Given the description of an element on the screen output the (x, y) to click on. 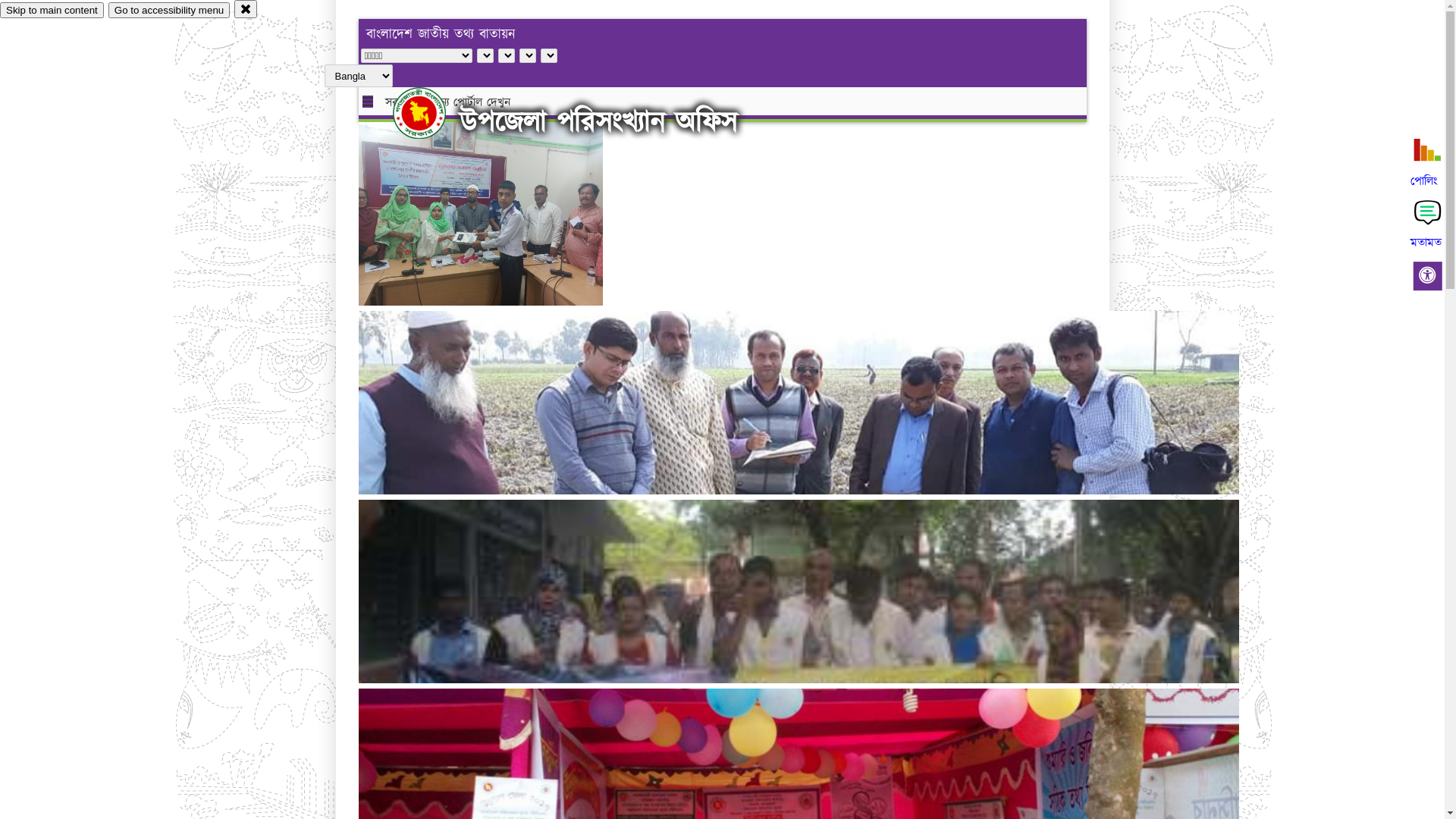
Skip to main content Element type: text (51, 10)
close Element type: hover (245, 9)
Go to accessibility menu Element type: text (168, 10)

                
             Element type: hover (431, 112)
